Given the description of an element on the screen output the (x, y) to click on. 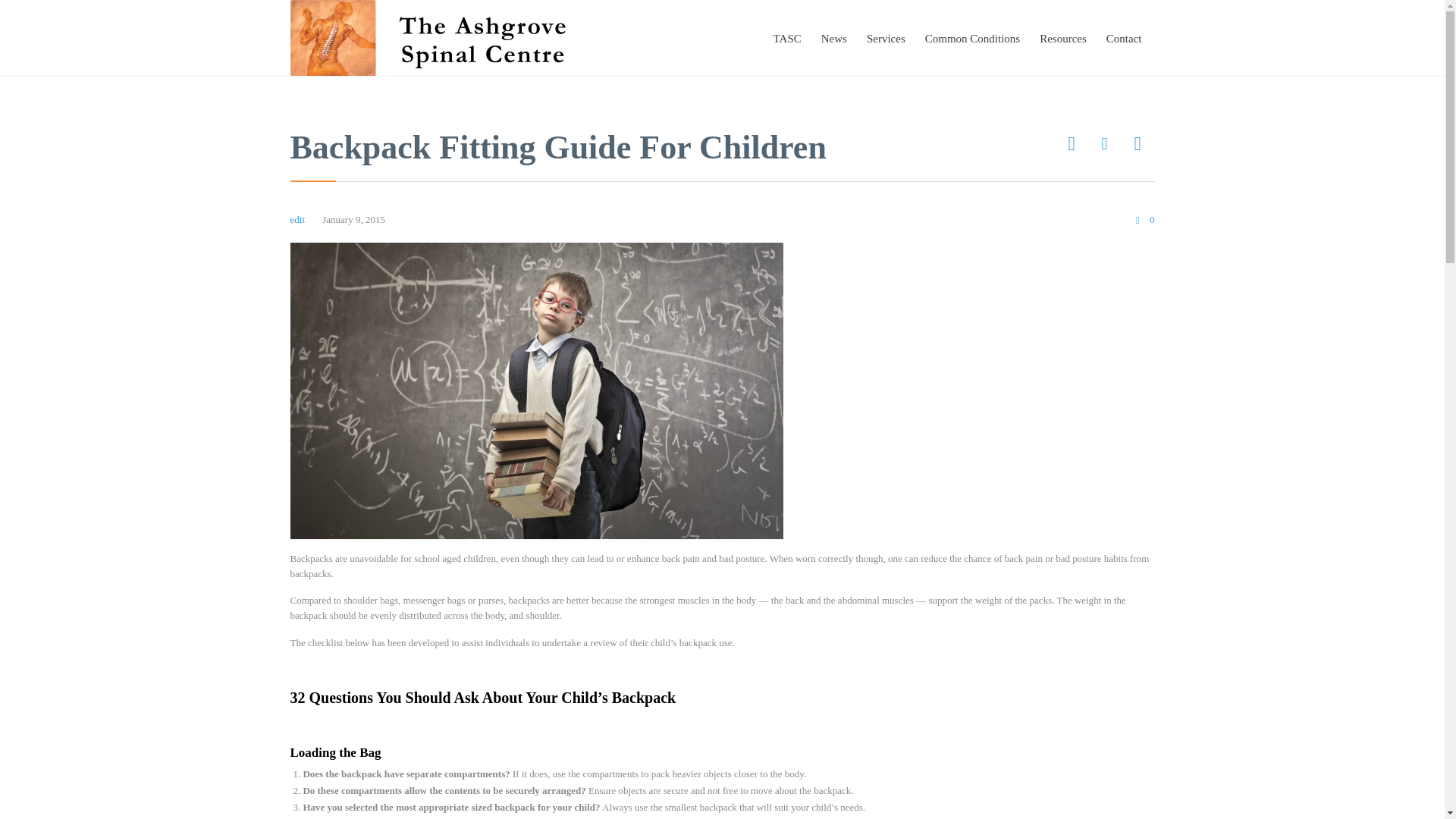
Posts by edit (296, 219)
Resources (1062, 38)
edit (296, 219)
TASC (787, 38)
News (833, 38)
Contact (1123, 38)
Common Conditions (972, 38)
The Ashgrove Spinal Centre (439, 38)
